Given the description of an element on the screen output the (x, y) to click on. 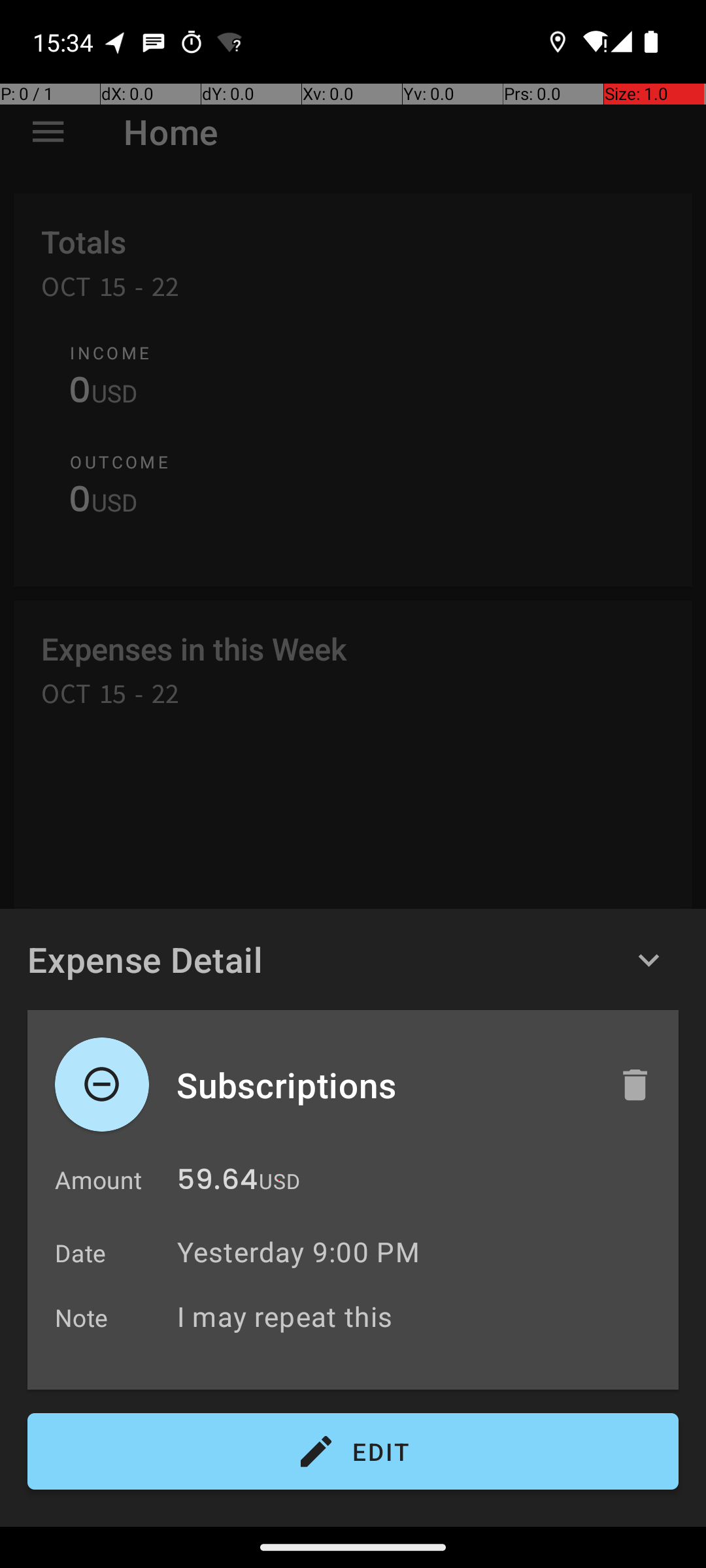
59.64 Element type: android.widget.TextView (217, 1182)
Yesterday 9:00 PM Element type: android.widget.TextView (298, 1251)
